Given the description of an element on the screen output the (x, y) to click on. 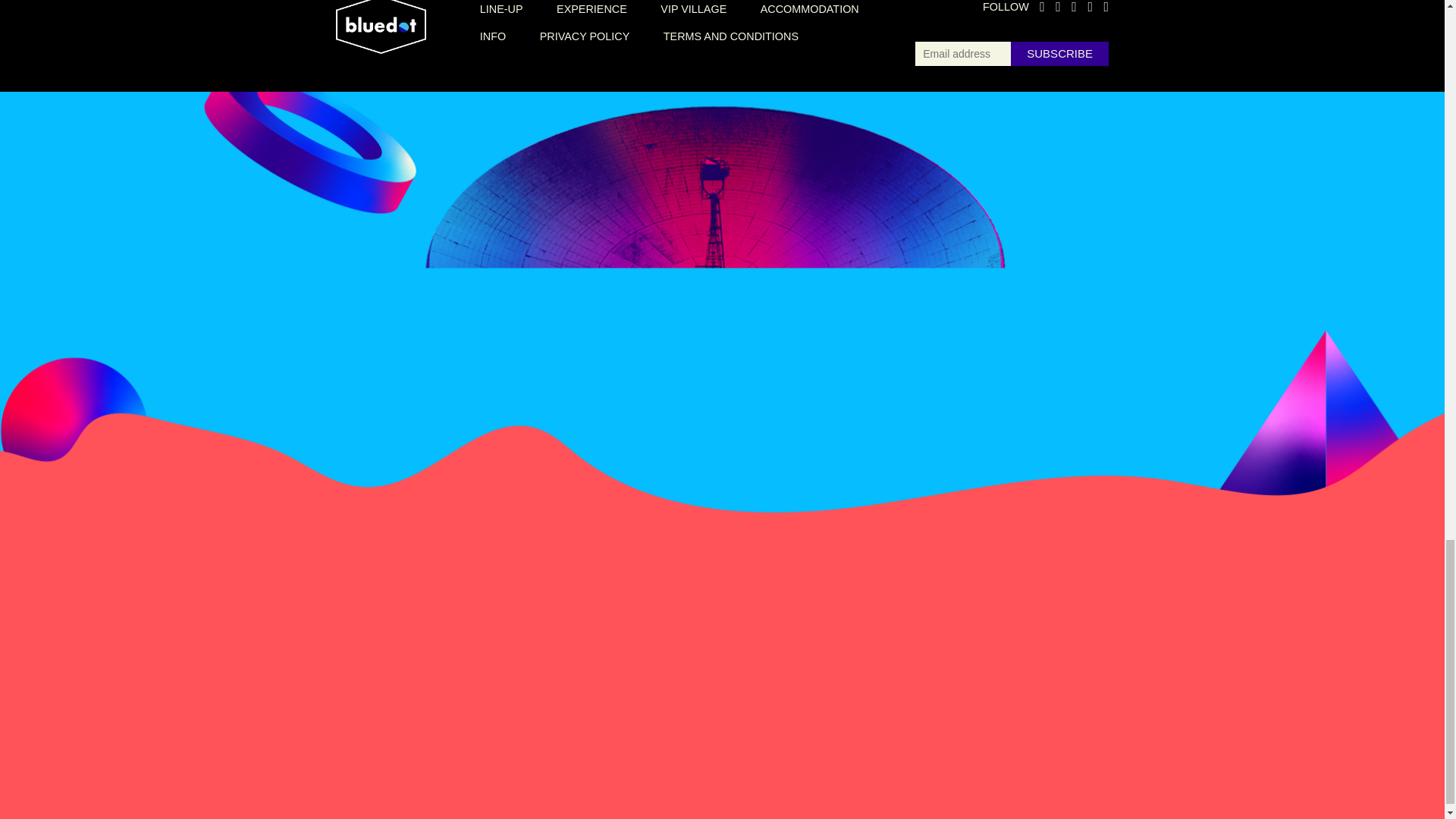
TERMS AND CONDITIONS (730, 36)
ACCOMMODATION (809, 9)
PRIVACY POLICY (585, 36)
SUBSCRIBE (1059, 53)
EXPERIENCE (591, 9)
LINE-UP (501, 9)
INFO (492, 36)
VIP VILLAGE (693, 9)
